Given the description of an element on the screen output the (x, y) to click on. 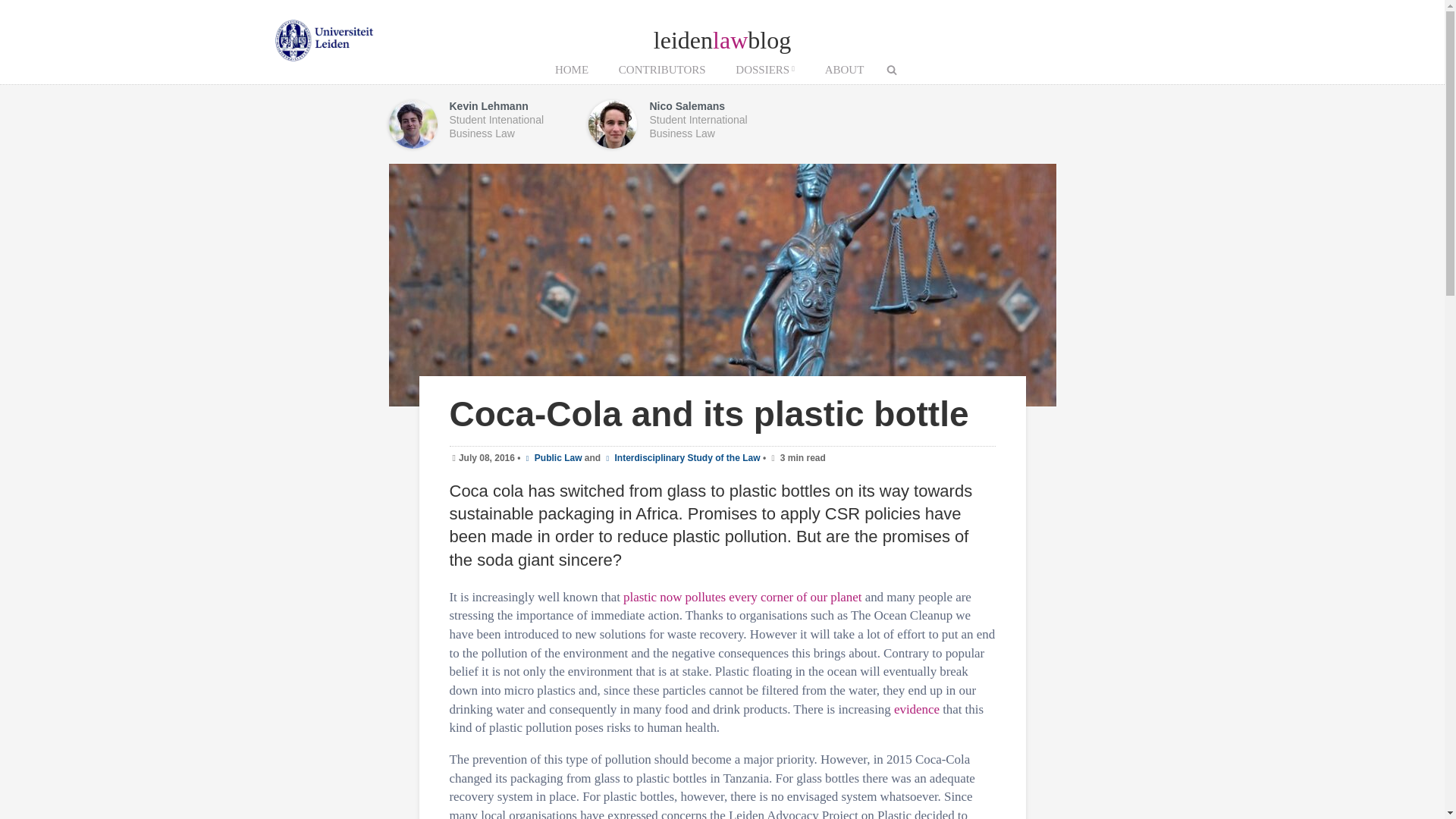
leidenlawblog (721, 40)
DOSSIERS (765, 69)
Interdisciplinary Study of the Law (682, 457)
ABOUT (843, 69)
CONTRIBUTORS (662, 69)
evidence (916, 708)
HOME (571, 69)
plastic now pollutes every corner of our planet (742, 596)
Public Law (552, 457)
